Given the description of an element on the screen output the (x, y) to click on. 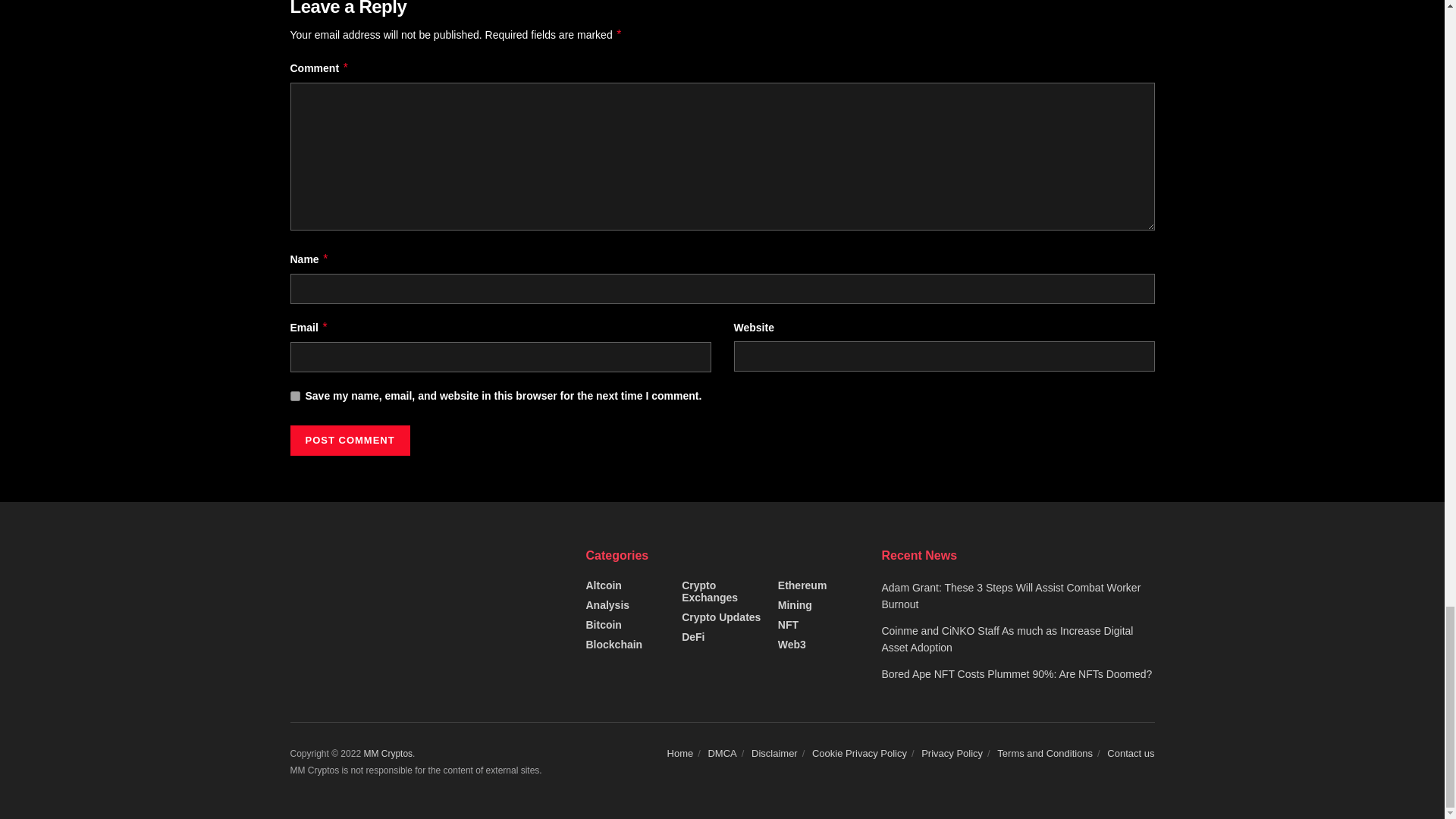
Post Comment (349, 440)
MM Cryptos (387, 753)
yes (294, 396)
